Given the description of an element on the screen output the (x, y) to click on. 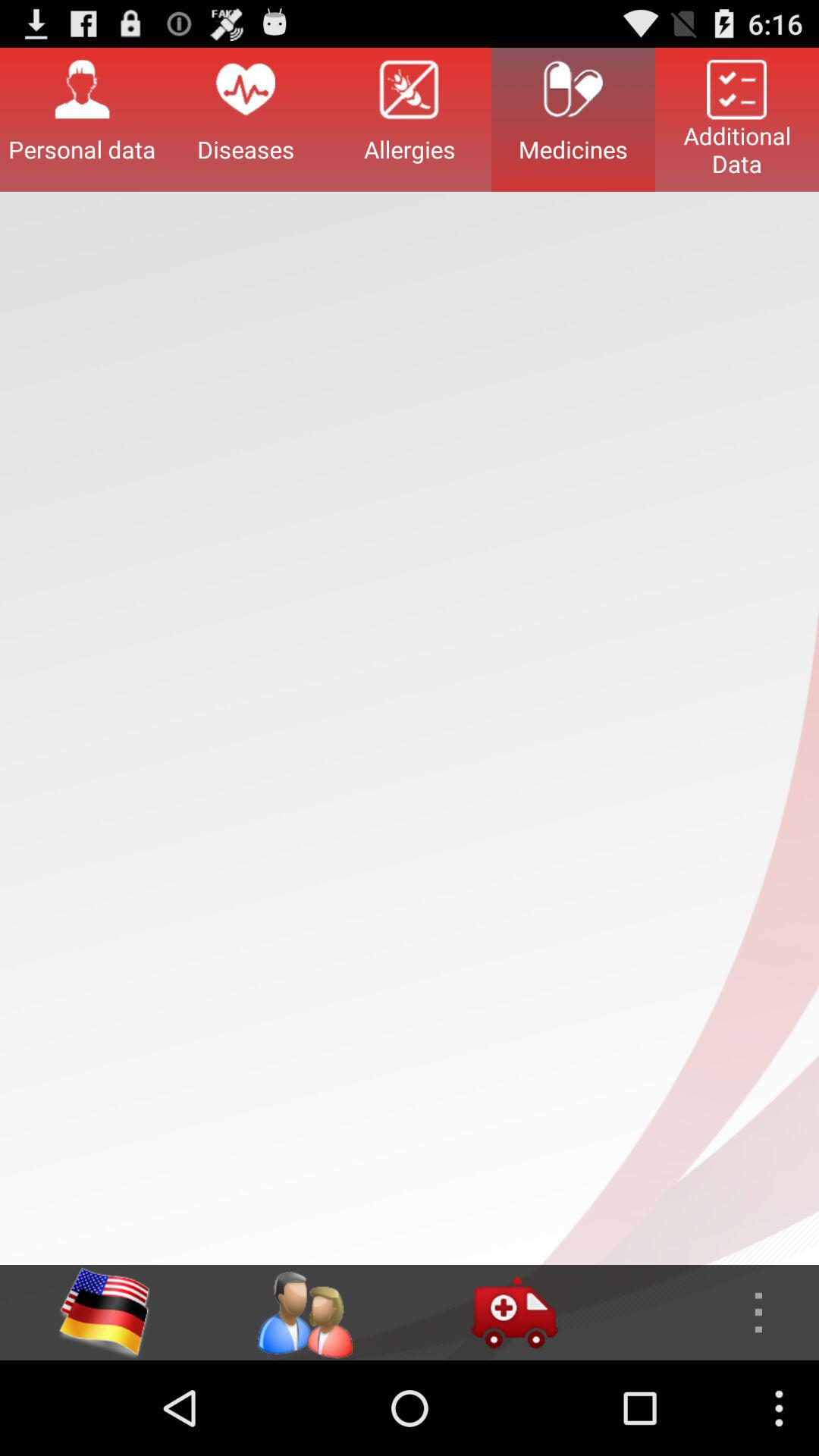
launch the button next to the additional data icon (573, 119)
